Given the description of an element on the screen output the (x, y) to click on. 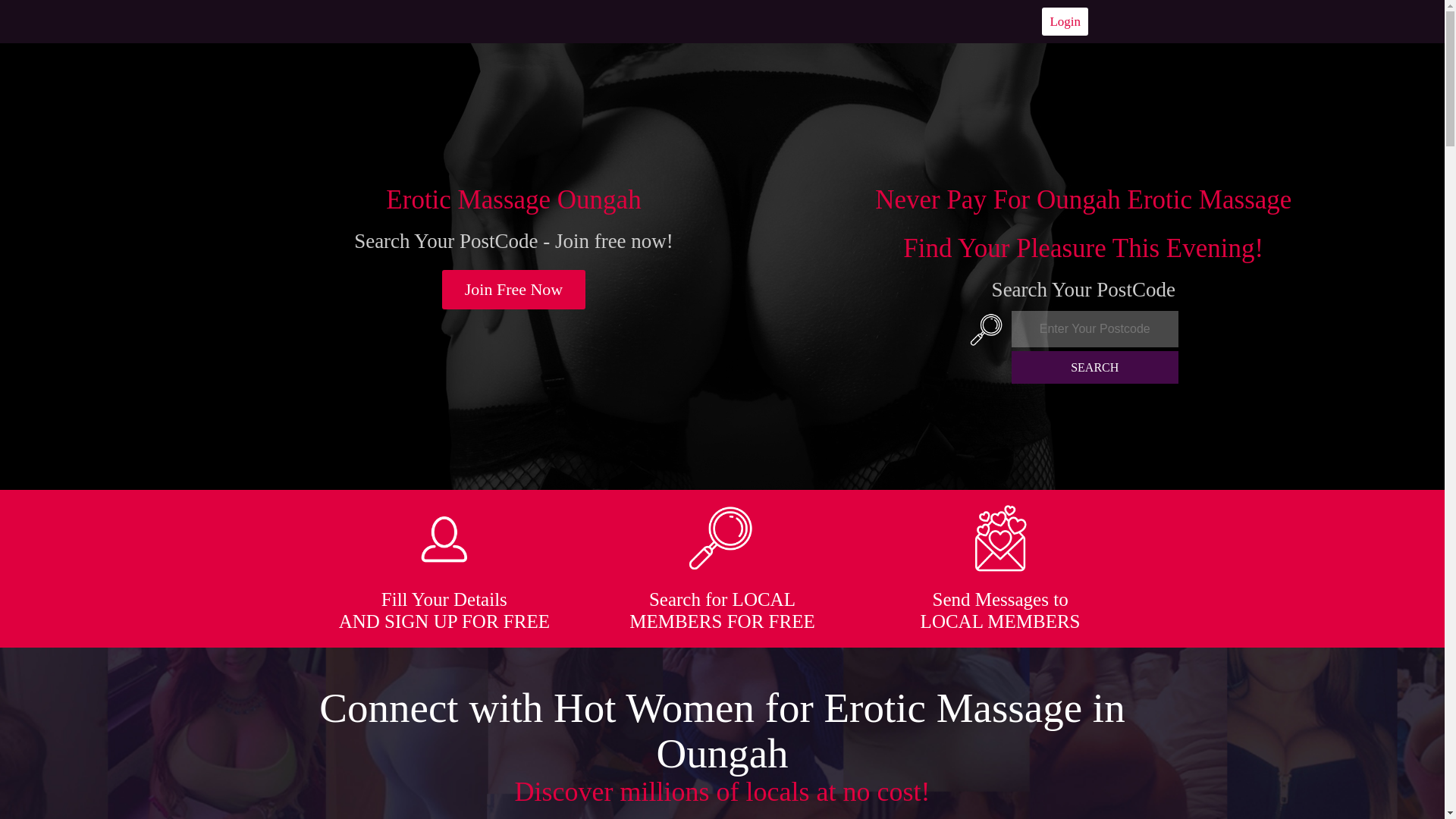
Login (1064, 21)
Join Free Now (514, 289)
Login (1064, 21)
SEARCH (1094, 367)
Join (514, 289)
